Given the description of an element on the screen output the (x, y) to click on. 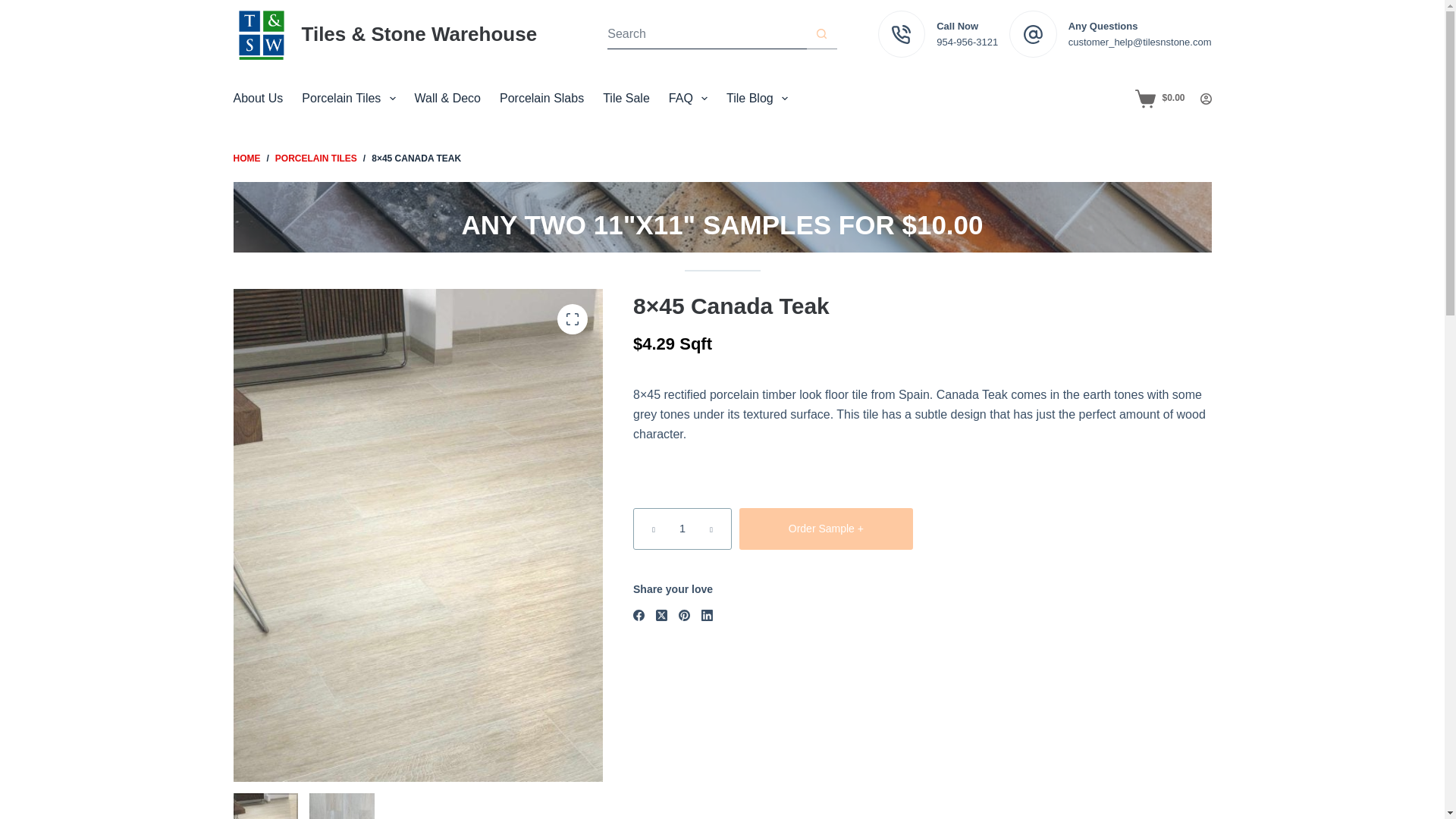
canada-teak-wood-look (265, 806)
1 (682, 528)
canada-teak (341, 806)
Skip to content (15, 7)
Search for... (706, 33)
